Given the description of an element on the screen output the (x, y) to click on. 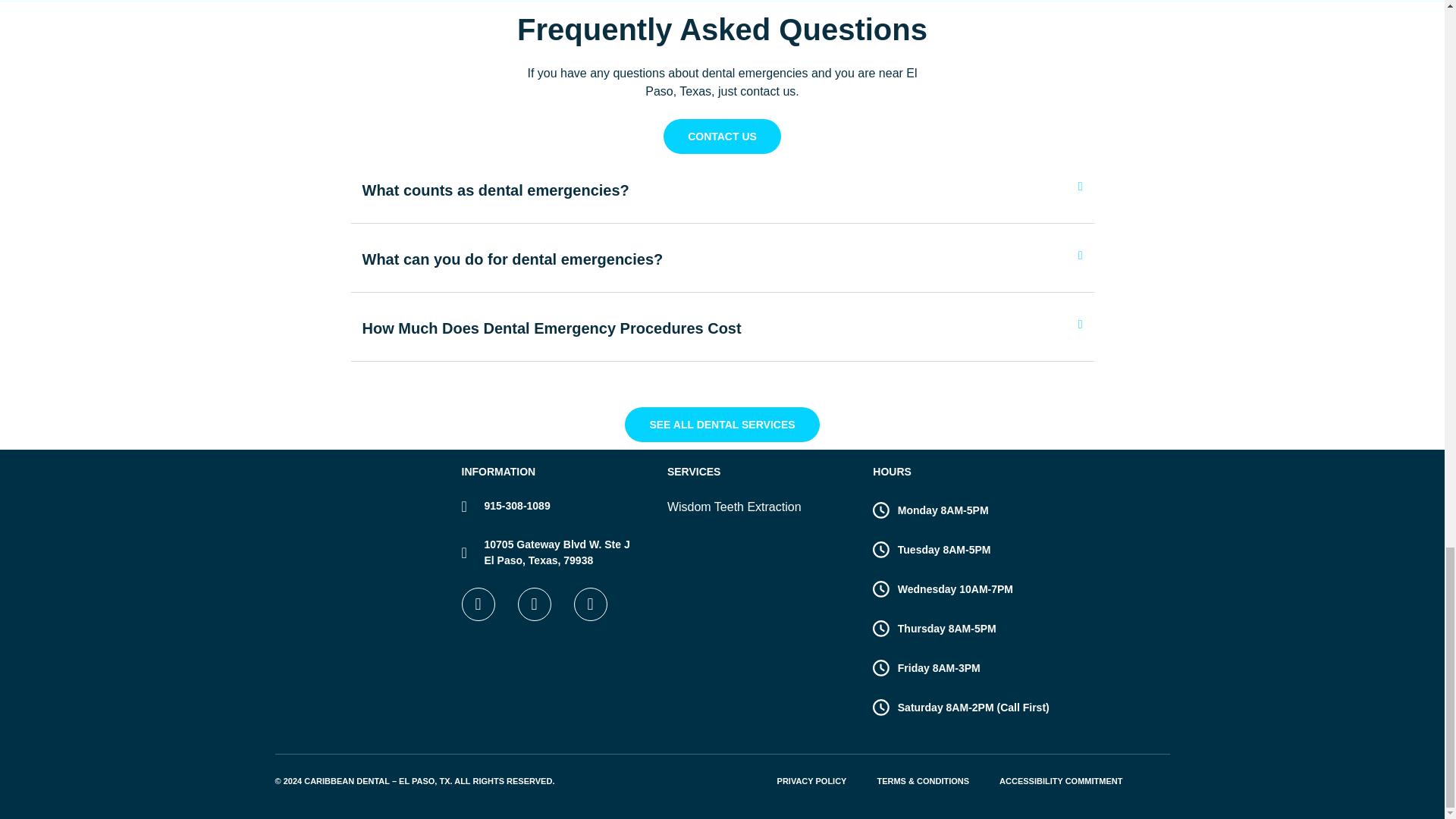
Wisdom Teeth Extraction (761, 506)
What counts as dental emergencies? (495, 190)
CONTACT US (721, 135)
PRIVACY POLICY (811, 780)
How Much Does Dental Emergency Procedures Cost (551, 328)
What can you do for dental emergencies? (555, 552)
915-308-1089 (512, 258)
SEE ALL DENTAL SERVICES (555, 505)
ACCESSIBILITY COMMITMENT (721, 424)
